Given the description of an element on the screen output the (x, y) to click on. 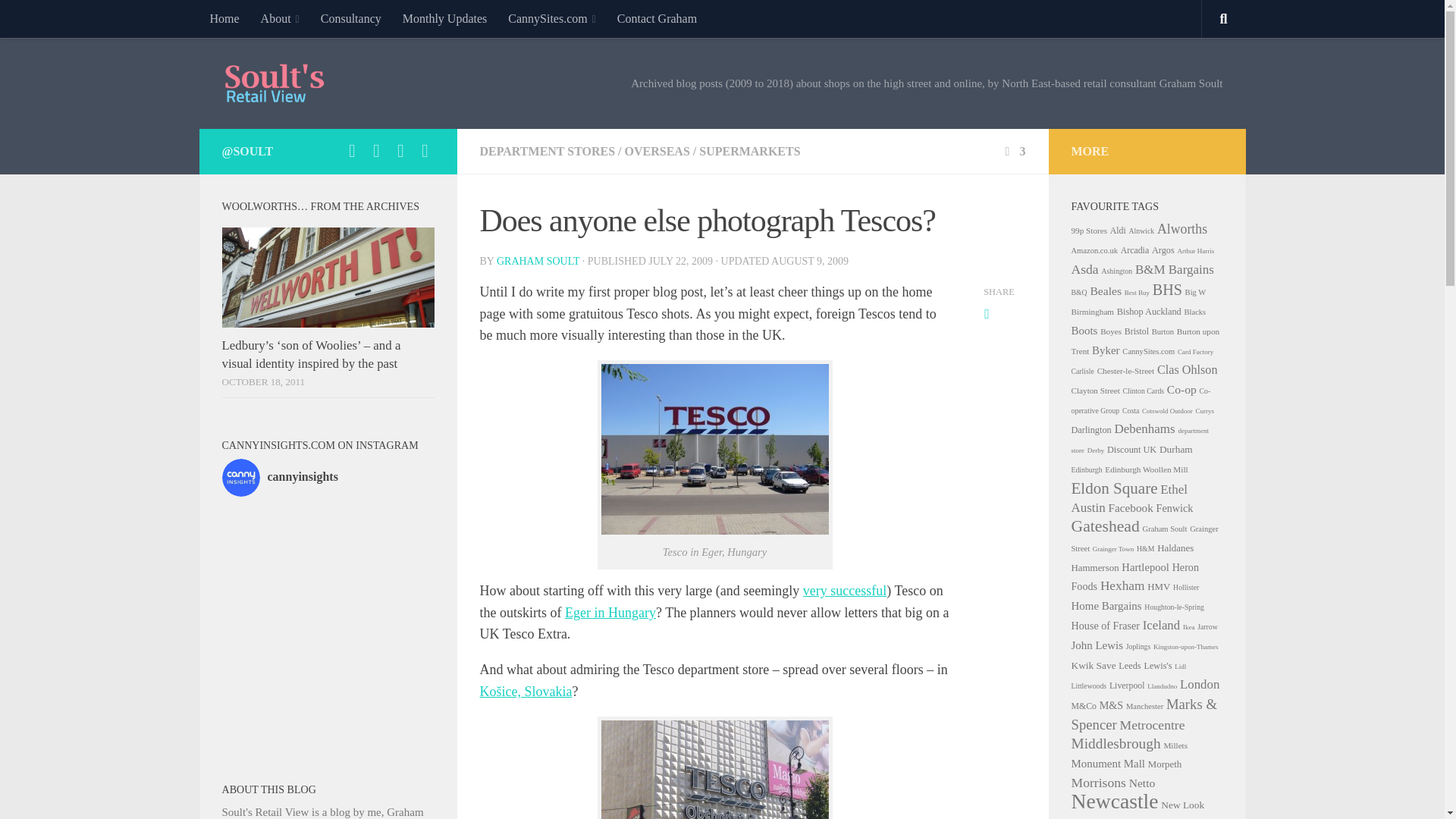
Consultancy (350, 18)
About (280, 18)
very successful (844, 590)
Monthly Updates (444, 18)
Eger (610, 612)
DEPARTMENT STORES (546, 151)
Posts by Graham Soult (537, 260)
GRAHAM SOULT (537, 260)
SUPERMARKETS (748, 151)
Tesco in Eger, Hungary. Photograph by Graham Soult (713, 448)
